Given the description of an element on the screen output the (x, y) to click on. 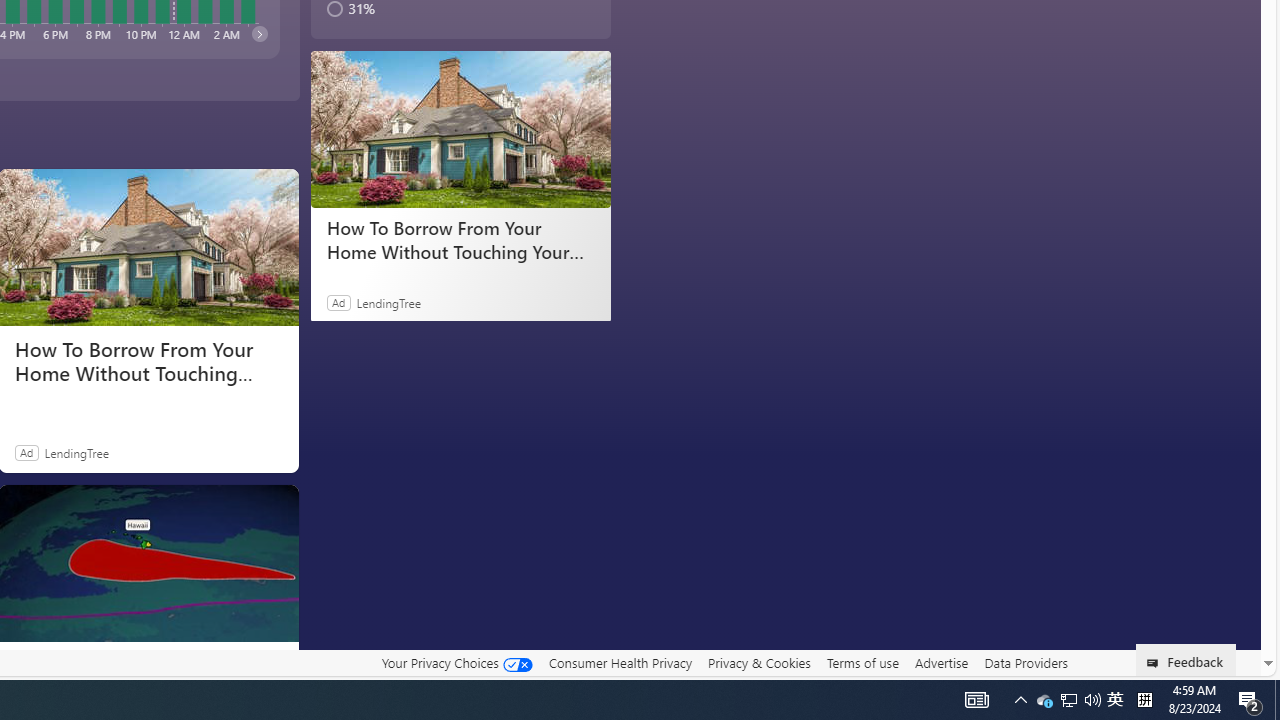
Your Privacy Choices (456, 662)
Data Providers (1025, 662)
Data Providers (1025, 663)
